Given the description of an element on the screen output the (x, y) to click on. 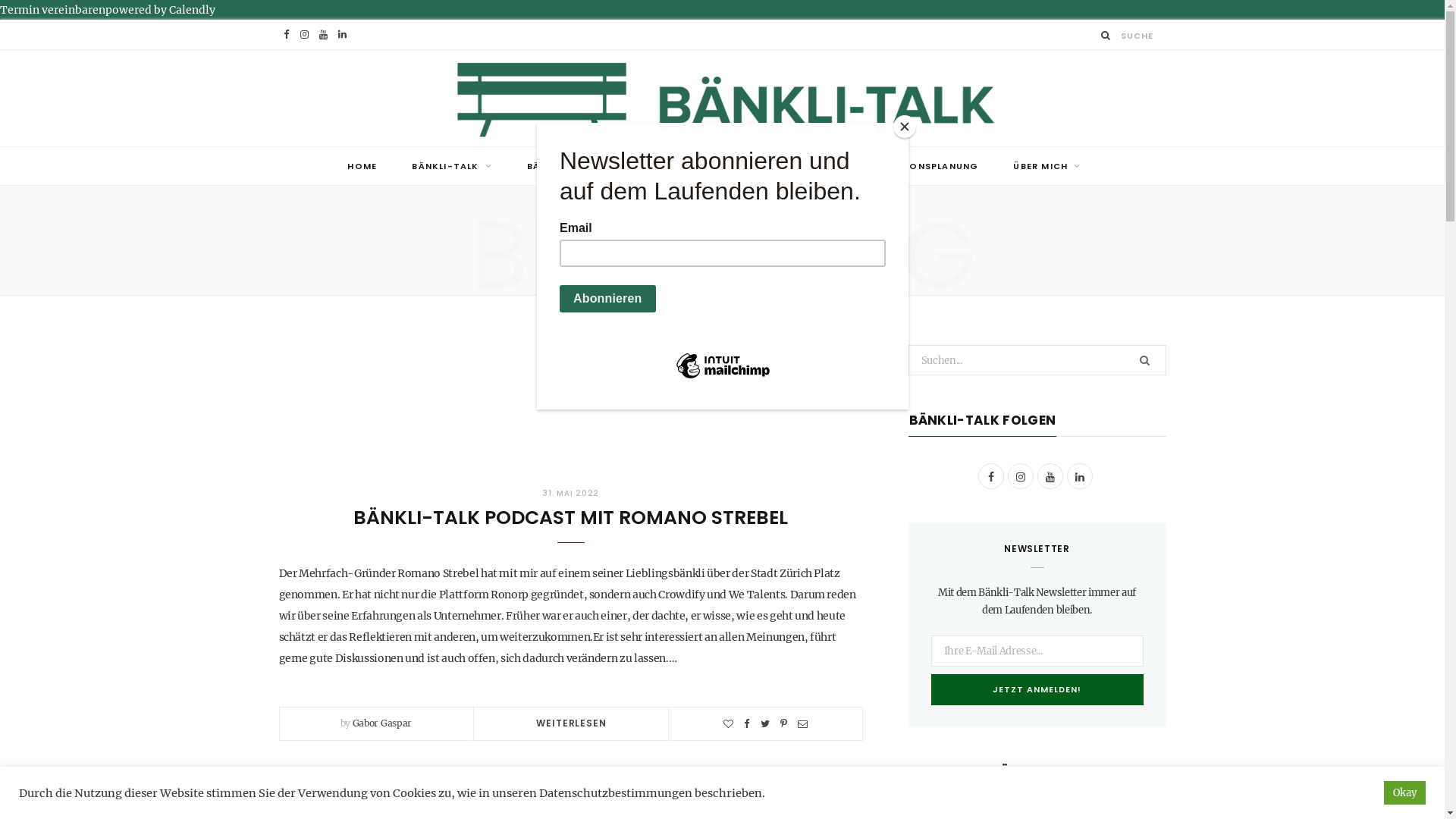
LinkedIn Element type: text (1079, 476)
Facebook Element type: text (286, 34)
Share on Facebook Element type: hover (746, 723)
Share on Twitter Element type: hover (764, 723)
HOME Element type: text (361, 165)
Facebook Element type: text (991, 476)
Instagram Element type: text (304, 34)
YouTube Element type: text (322, 34)
WEITERLESEN Element type: text (570, 722)
Instagram Element type: text (1019, 476)
PENSIONSPLANUNG Element type: text (929, 165)
31. MAI 2022 Element type: text (570, 492)
YouTube Element type: text (1050, 476)
Pinterest Element type: hover (783, 723)
FINANZ- UND PENSIONSPLANUNG Element type: text (763, 165)
Jetzt anmelden! Element type: text (1037, 689)
Search for: Element type: hover (1037, 360)
Email Element type: hover (802, 723)
Home Element type: text (663, 271)
LinkedIn Element type: text (342, 34)
Gabor Gaspar Element type: text (381, 722)
Okay Element type: text (1404, 792)
